Given the description of an element on the screen output the (x, y) to click on. 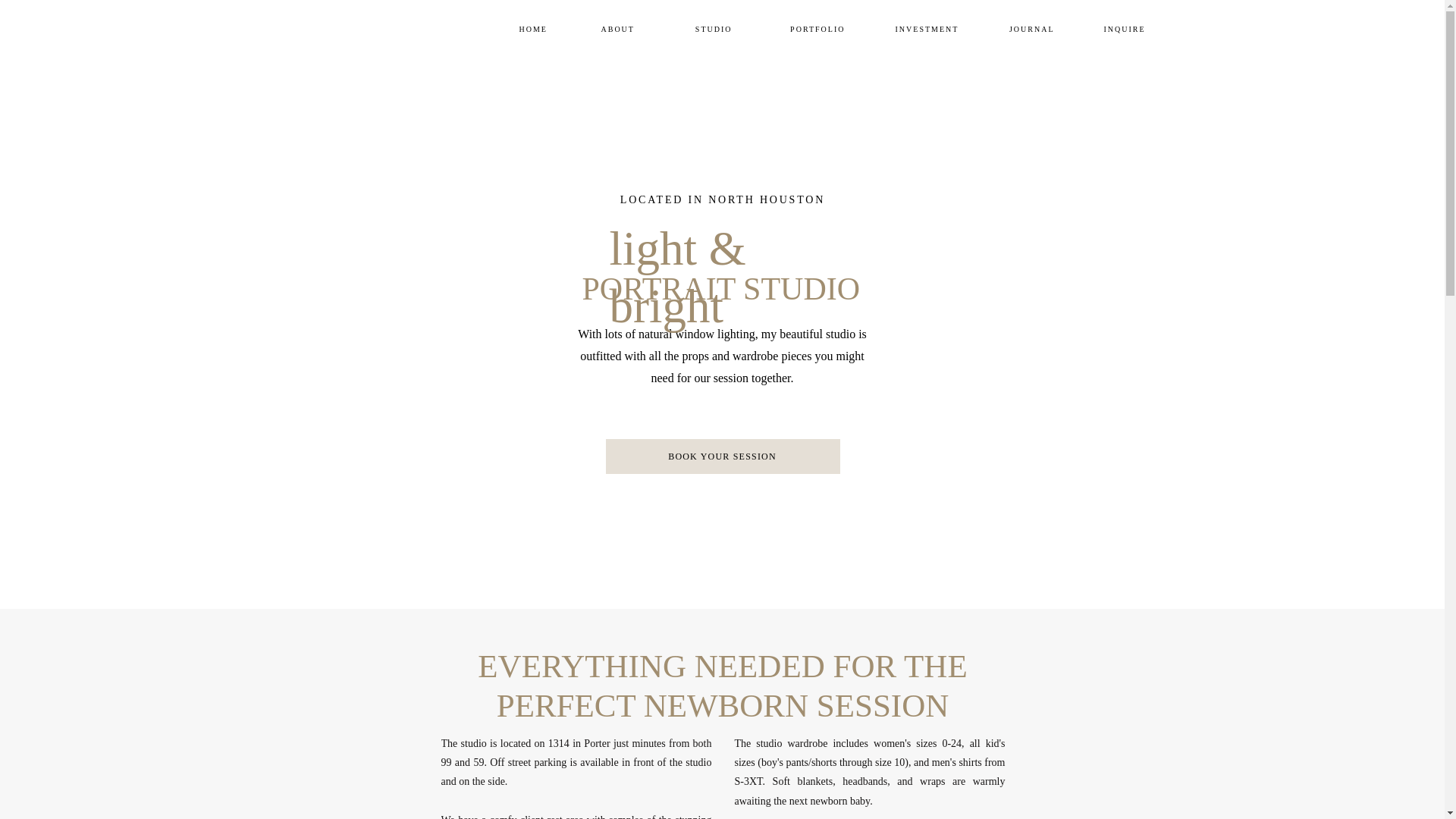
BOOK YOUR SESSION (722, 455)
HOME (535, 27)
ABOUT (619, 27)
PORTFOLIO (813, 27)
JOURNAL (1028, 27)
STUDIO (711, 27)
INVESTMENT (927, 27)
INQUIRE (1121, 27)
